Given the description of an element on the screen output the (x, y) to click on. 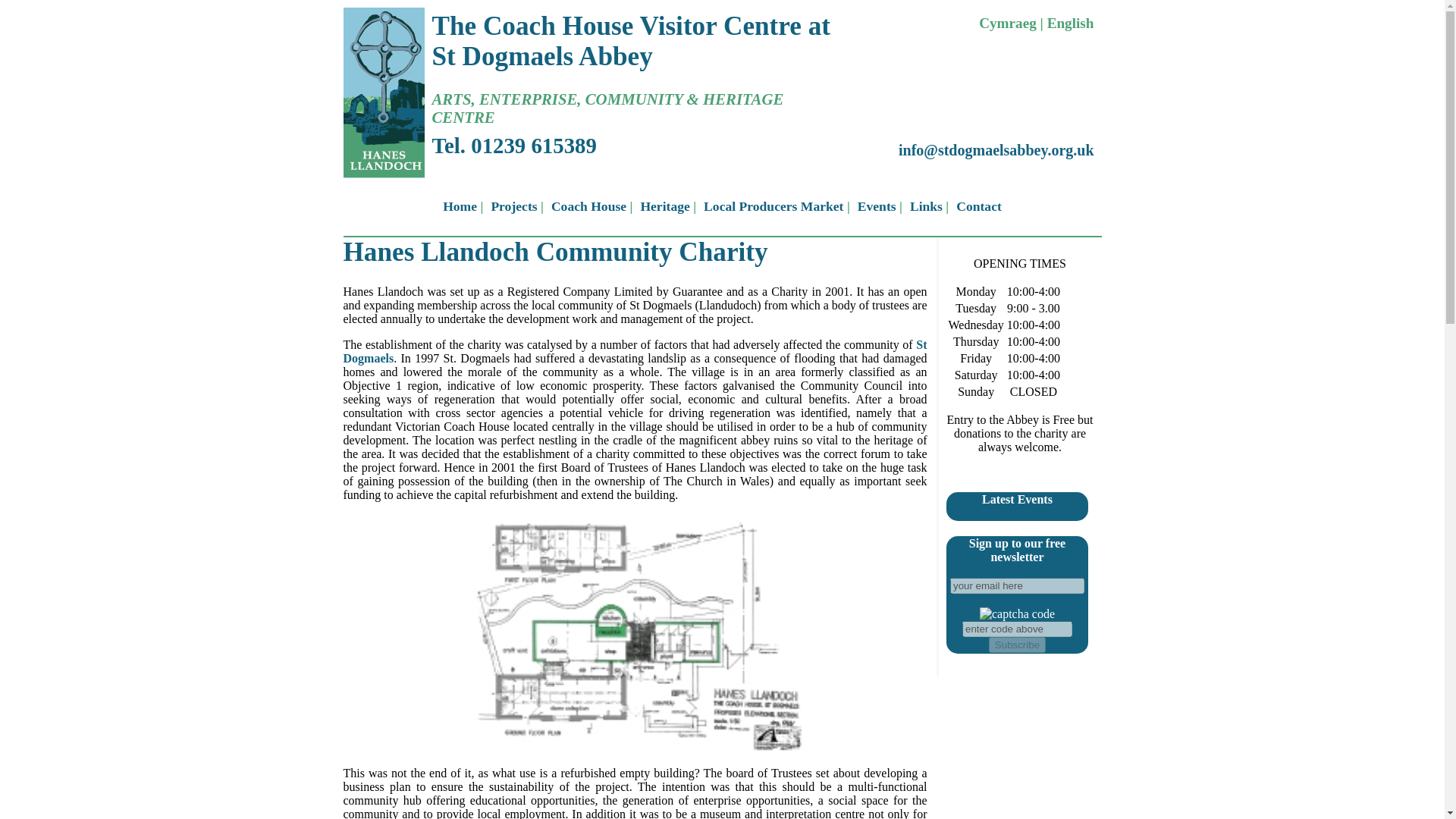
Subscribe (1016, 644)
Cymraeg (1007, 23)
Home (459, 206)
enter code above (1016, 628)
your email here (1017, 585)
Coach House (588, 206)
Projects (513, 206)
